Given the description of an element on the screen output the (x, y) to click on. 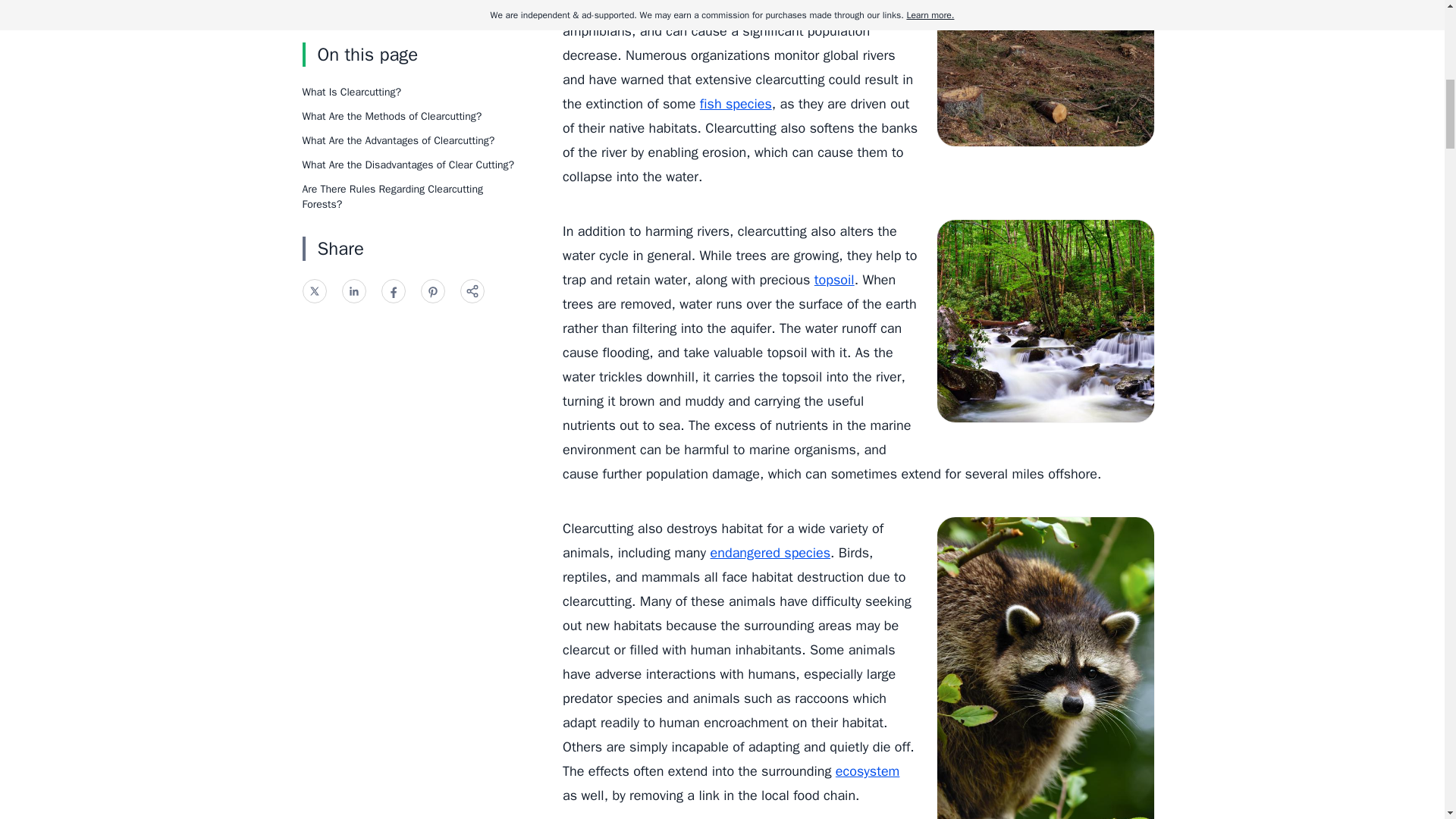
endangered species (770, 552)
fish species (735, 103)
topsoil (833, 279)
ecosystem (867, 770)
